Given the description of an element on the screen output the (x, y) to click on. 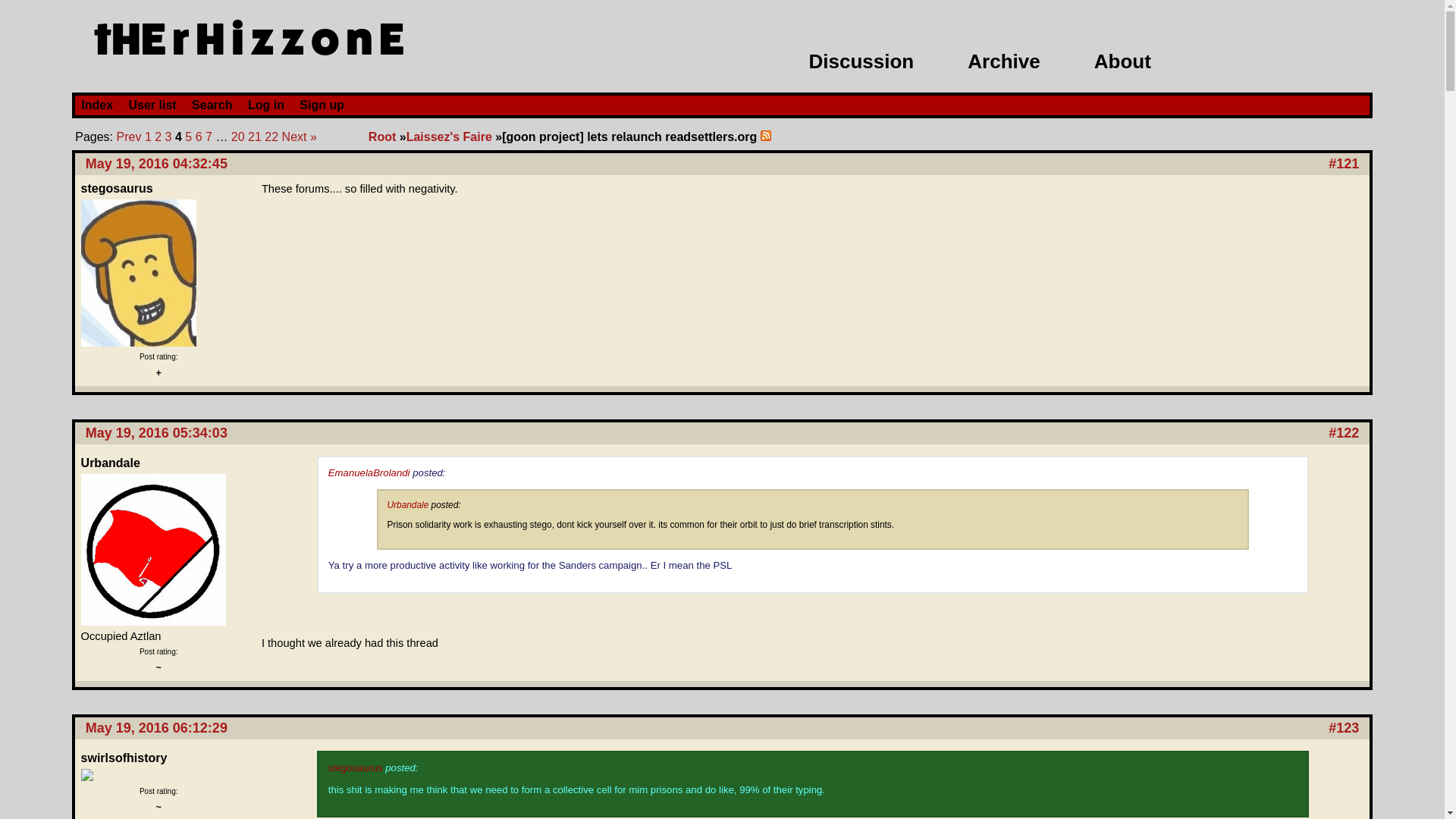
EmanuelaBrolandi (369, 472)
May 19, 2016 06:12:29 (156, 727)
Prev (128, 136)
Archive (1003, 60)
Log in (265, 104)
Search (211, 104)
User list (152, 104)
Laissez's Faire (449, 136)
stegosaurus (355, 767)
Next (294, 136)
